Given the description of an element on the screen output the (x, y) to click on. 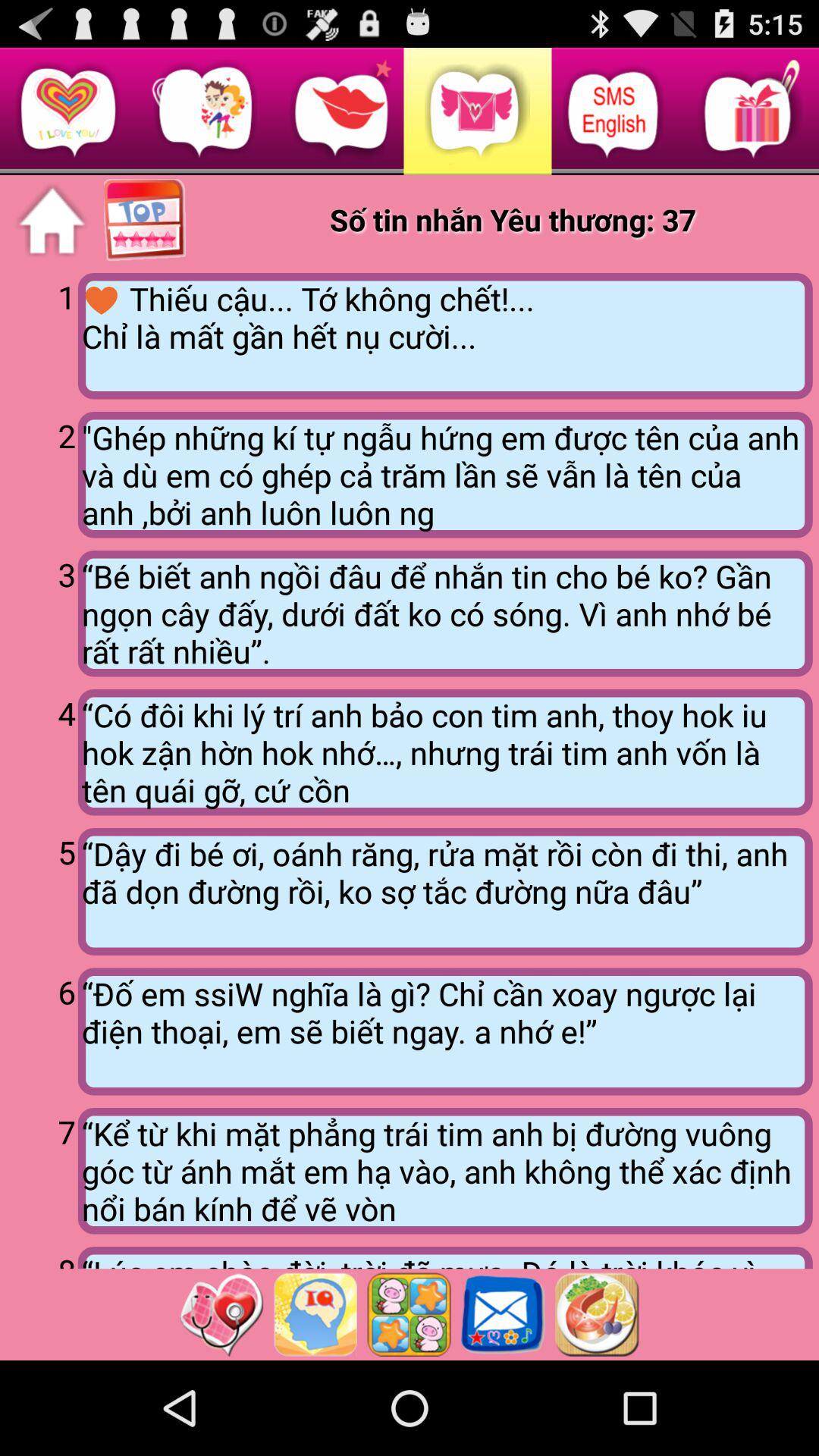
top rated (145, 220)
